Given the description of an element on the screen output the (x, y) to click on. 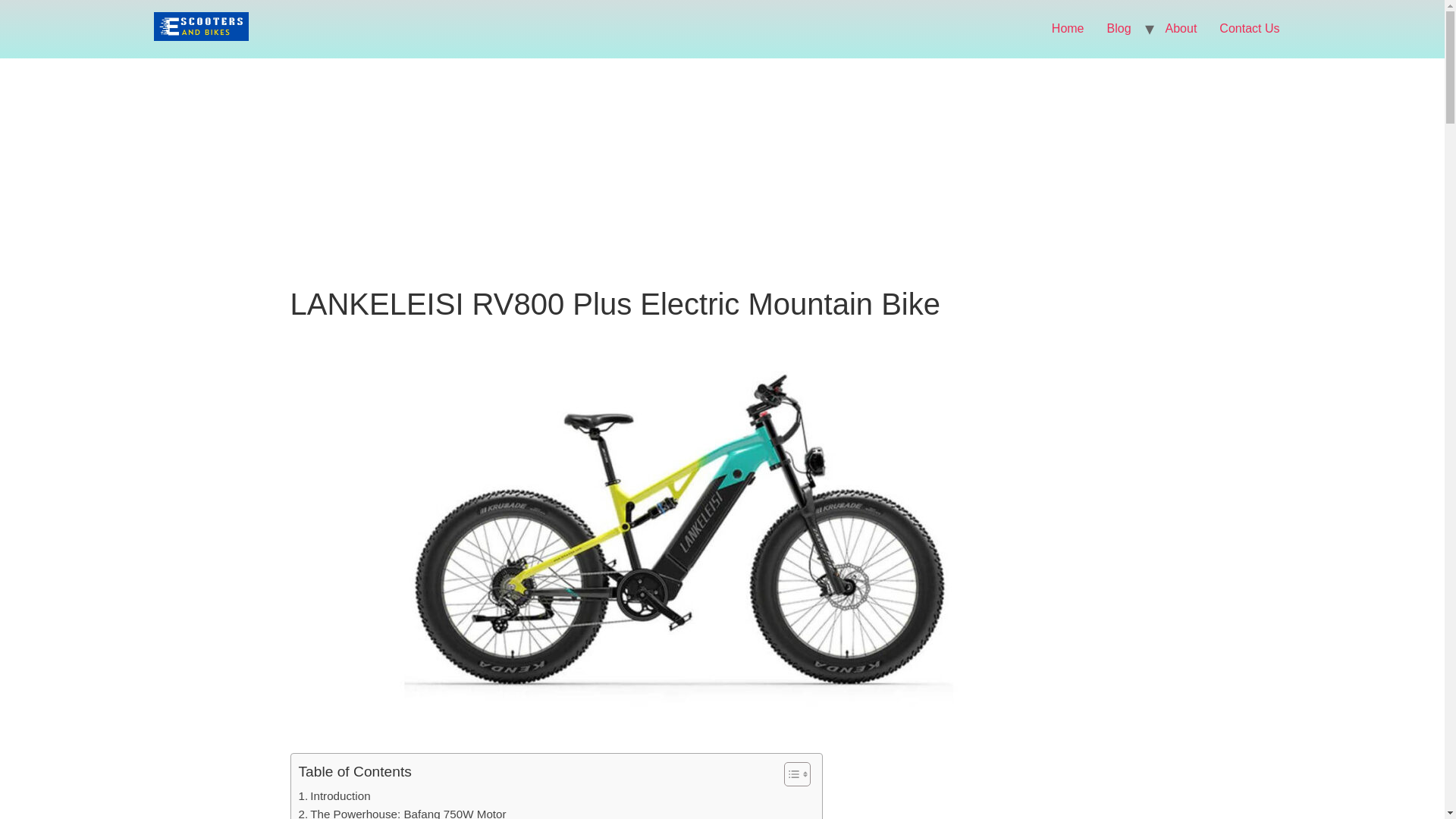
Introduction (334, 796)
Home (1068, 28)
Blog (1119, 28)
The Powerhouse: Bafang 750W Motor (402, 812)
Contact Us (1249, 28)
About (1181, 28)
